Given the description of an element on the screen output the (x, y) to click on. 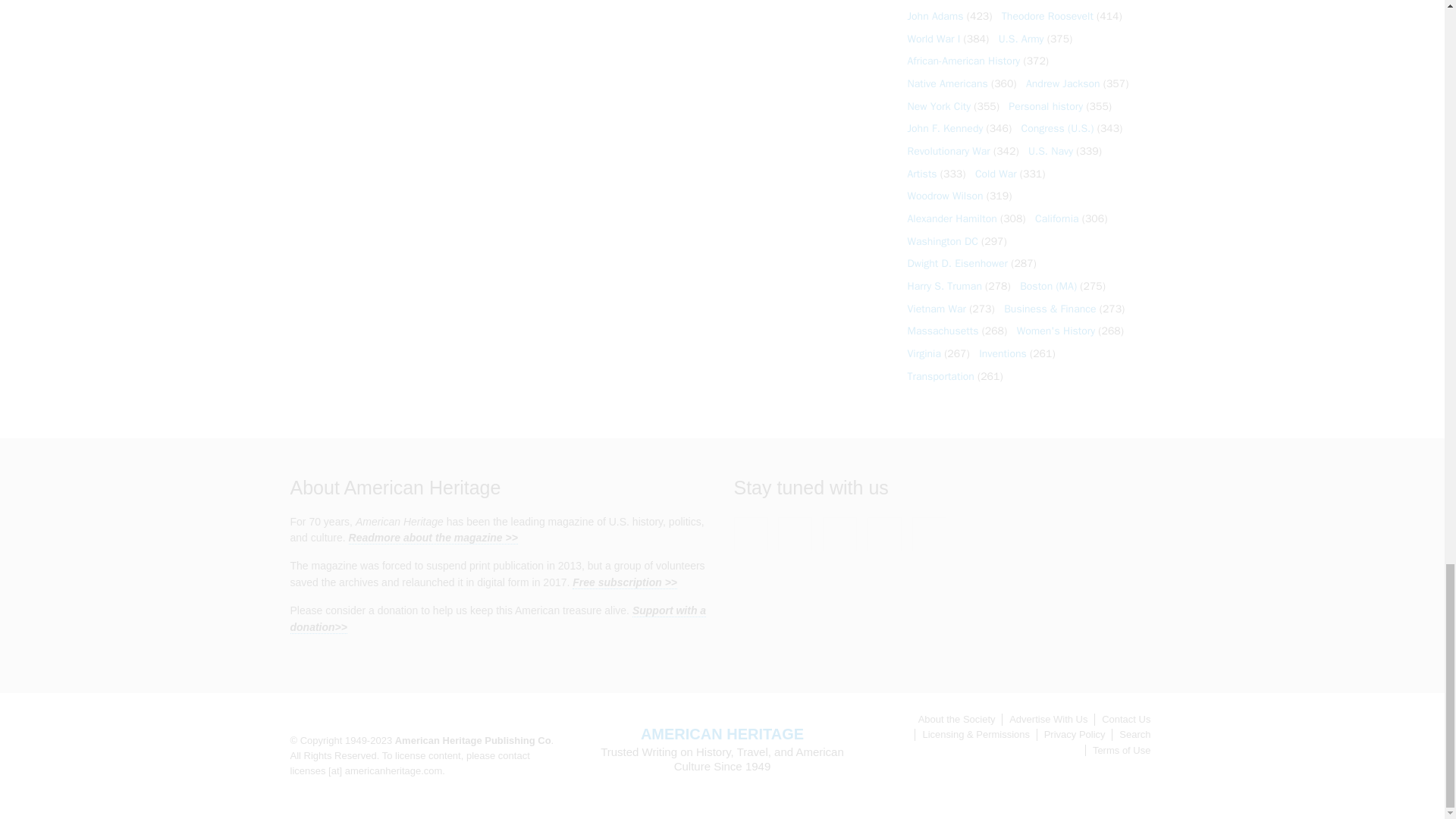
Home (721, 733)
